Given the description of an element on the screen output the (x, y) to click on. 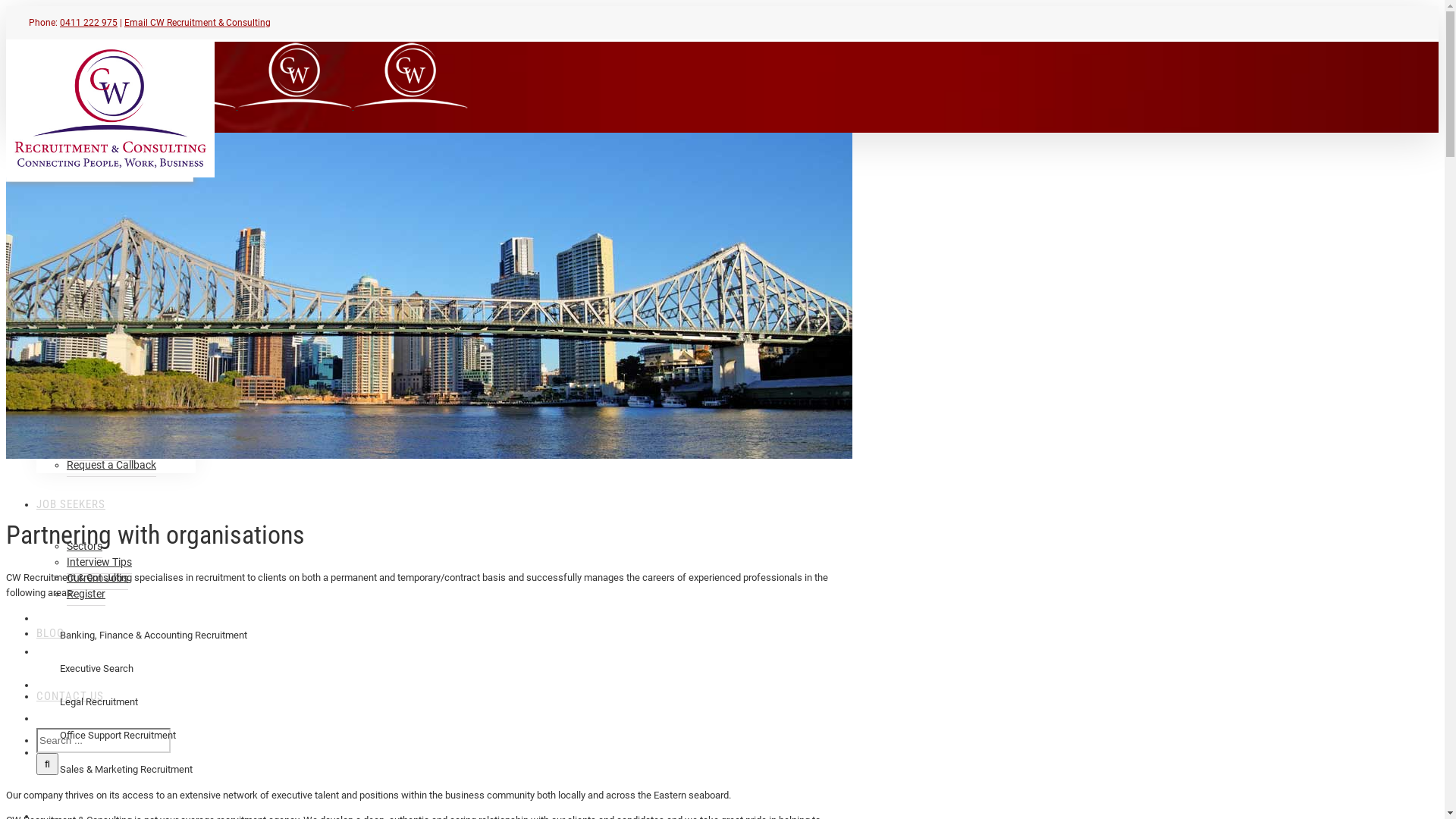
HOME Element type: text (51, 166)
Our Partners Element type: text (96, 288)
Register a Job Element type: text (100, 449)
Our Rewards Program Element type: text (119, 304)
Current Jobs Element type: text (97, 577)
ABOUT US Element type: text (62, 229)
Our Services Element type: text (95, 320)
Interview Tips Element type: text (98, 562)
Sectors Element type: text (84, 546)
Our Expertise Element type: text (97, 417)
Register Element type: text (85, 593)
Our Team Element type: text (89, 272)
Recruitment Process Element type: text (115, 433)
0411 222 975 Element type: text (88, 22)
CONTACT US Element type: text (69, 694)
Testimonials Element type: text (95, 336)
Request a Callback Element type: text (111, 464)
BLOG Element type: text (50, 632)
JOB SEEKERS Element type: text (70, 503)
Email CW Recruitment & Consulting Element type: text (197, 22)
EMPLOYERS Element type: text (67, 374)
